Given the description of an element on the screen output the (x, y) to click on. 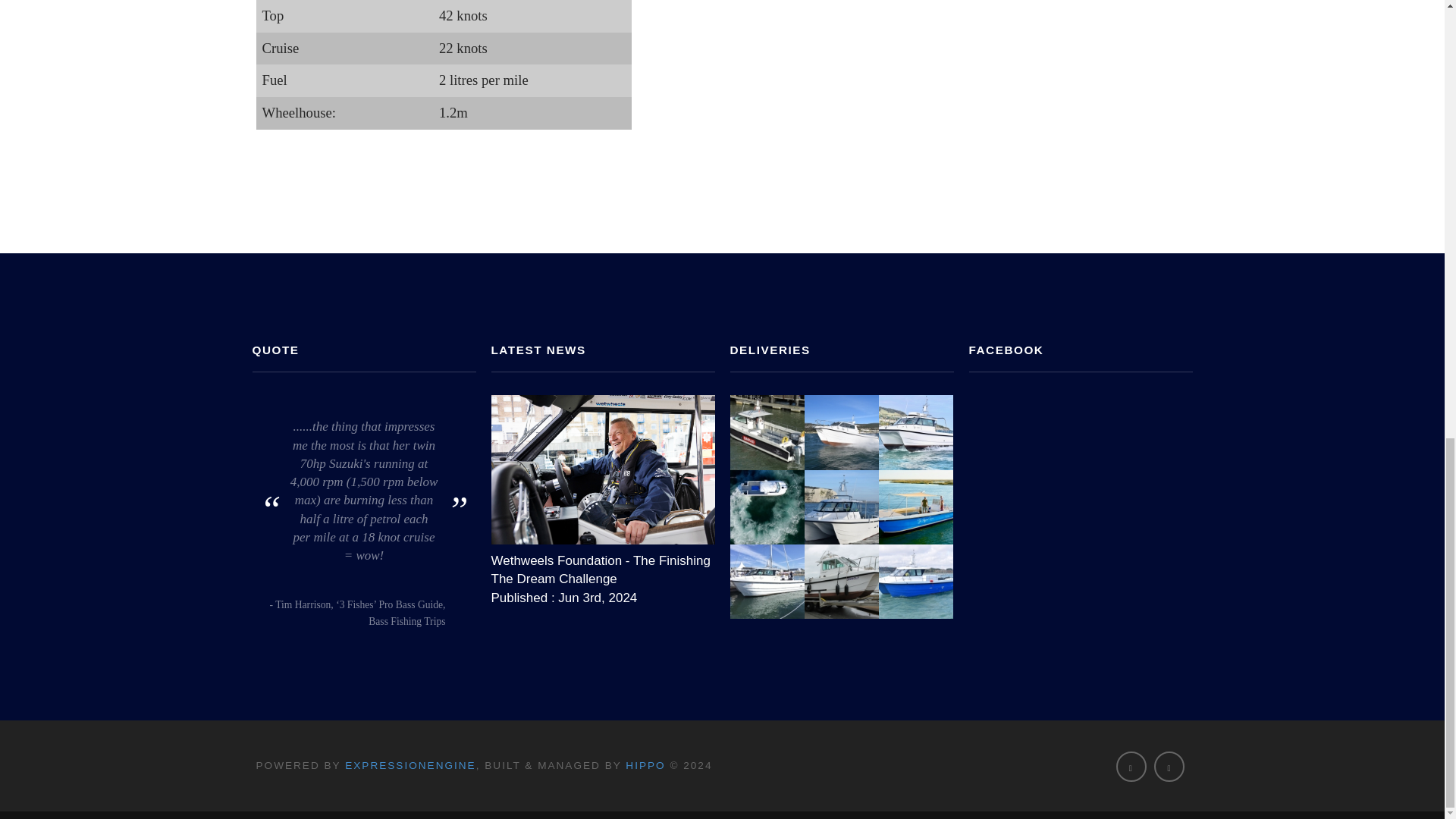
Wethweels Foundation - The Finishing The Dream Challenge (603, 566)
EXPRESSIONENGINE (410, 765)
HIPPO (645, 765)
News Title (603, 468)
News Title (603, 566)
